Given the description of an element on the screen output the (x, y) to click on. 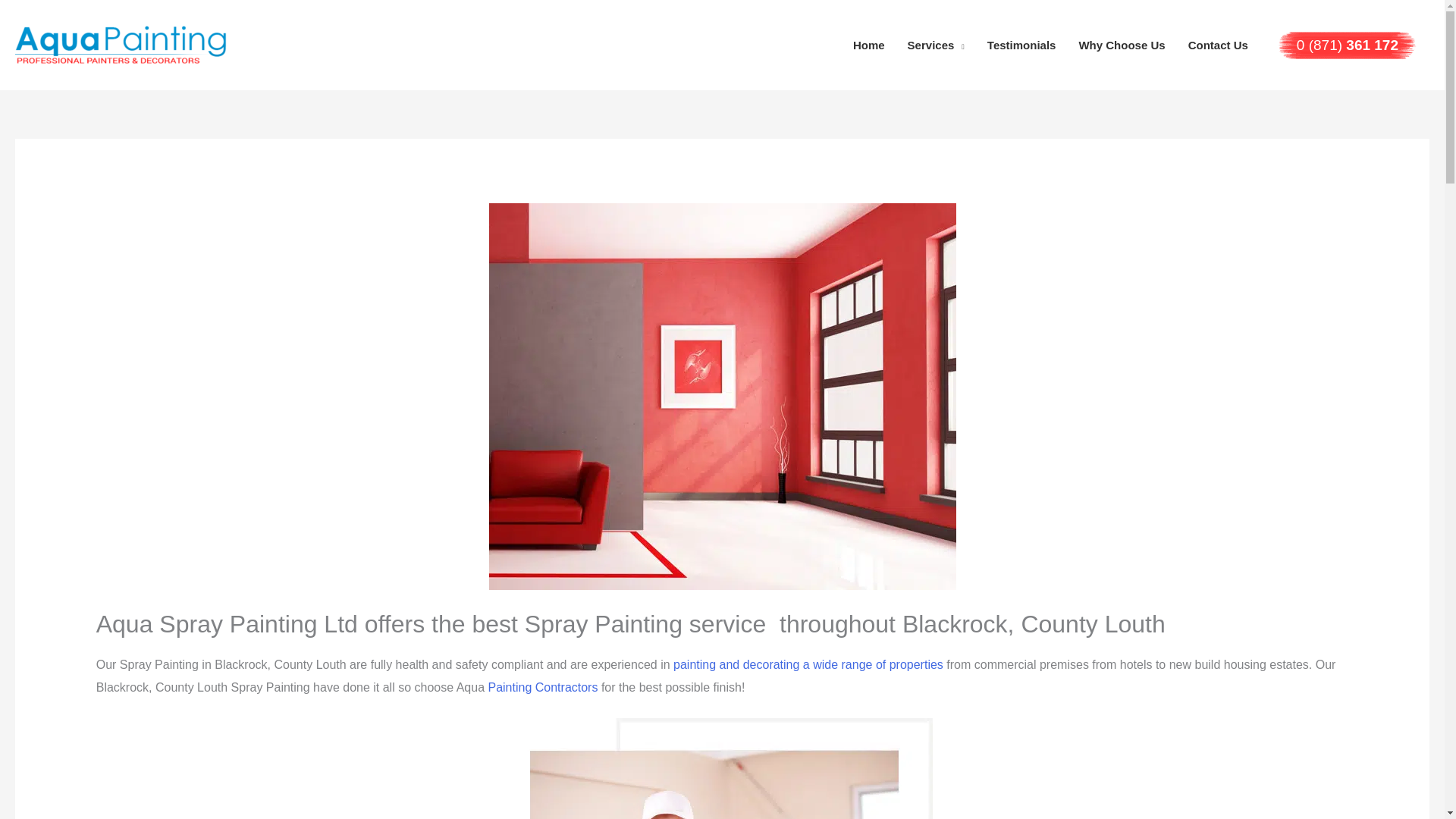
Why Choose Us (1121, 45)
painting and decorating a wide range of properties (807, 664)
Painting Contractors (541, 686)
Testimonials (1021, 45)
Services (935, 45)
Contact Us (1217, 45)
Home (868, 45)
